Given the description of an element on the screen output the (x, y) to click on. 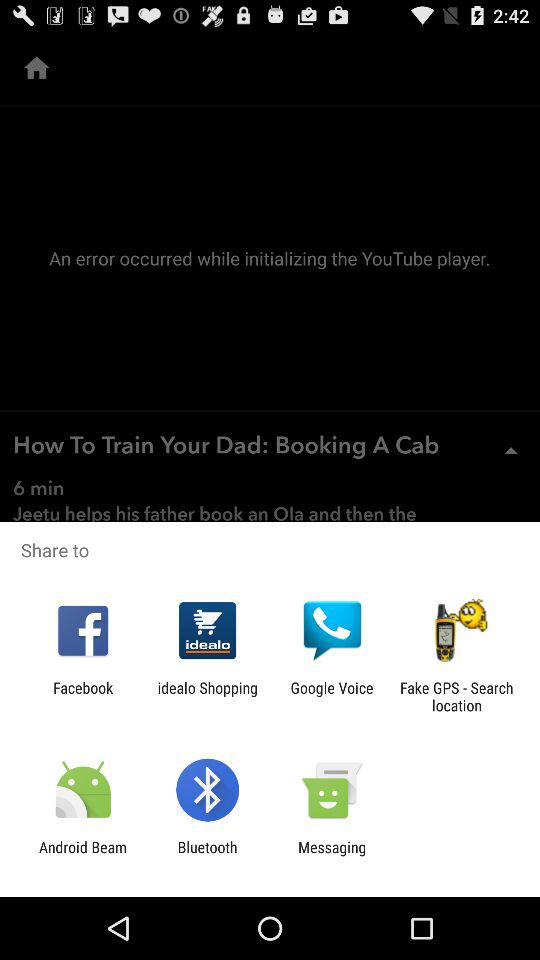
click app next to idealo shopping item (331, 696)
